Given the description of an element on the screen output the (x, y) to click on. 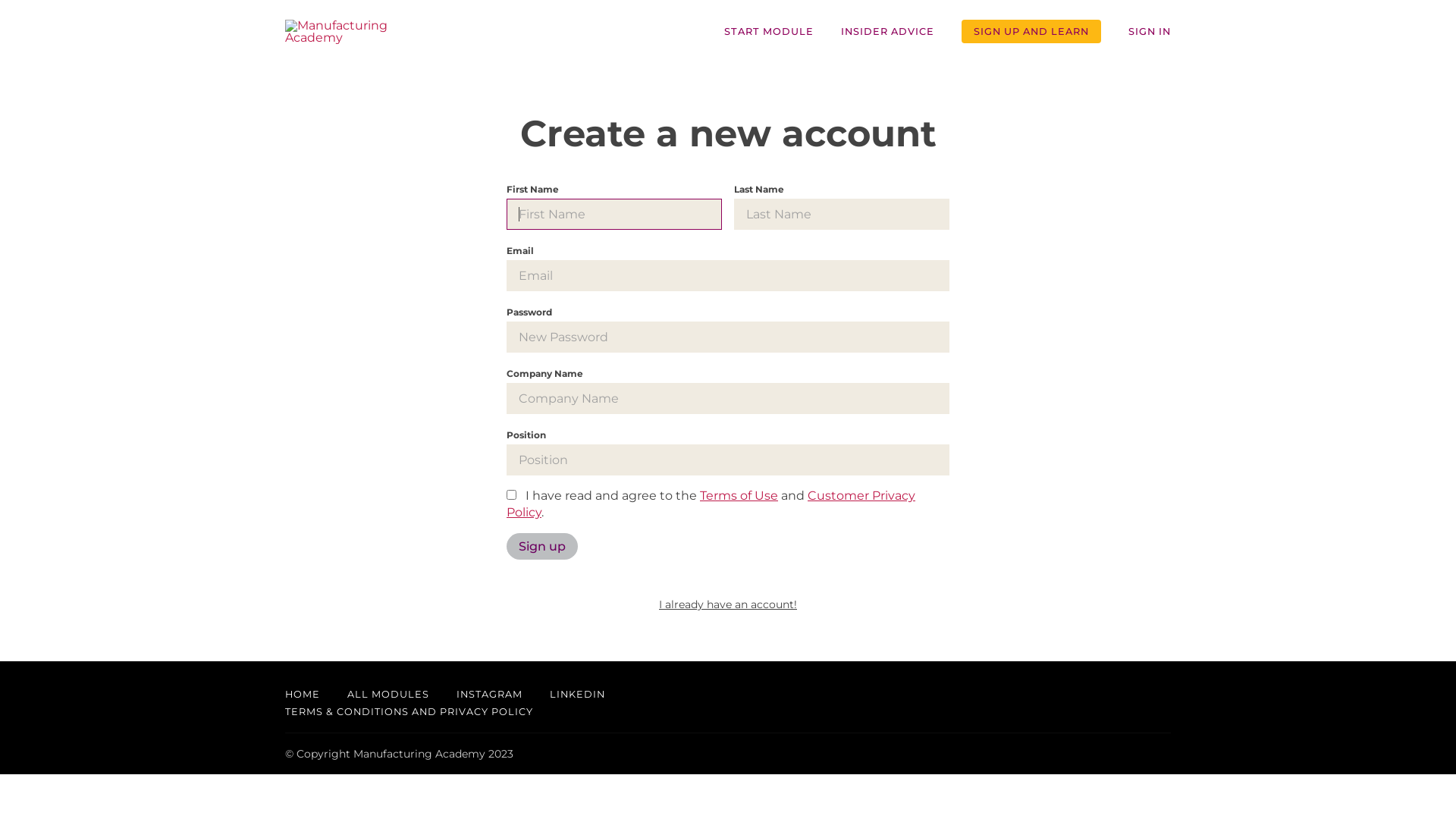
Terms of Use Element type: text (738, 495)
Customer Privacy Policy Element type: text (710, 503)
SIGN UP AND LEARN Element type: text (1031, 31)
I already have an account! Element type: text (727, 604)
START MODULE Element type: text (768, 31)
HOME Element type: text (302, 694)
Sign up Element type: text (541, 546)
INSTAGRAM Element type: text (489, 694)
TERMS & CONDITIONS AND PRIVACY POLICY Element type: text (409, 711)
INSIDER ADVICE Element type: text (887, 31)
LINKEDIN Element type: text (577, 694)
SIGN IN Element type: text (1149, 31)
Manufacturing Academy Element type: hover (357, 31)
ALL MODULES Element type: text (388, 694)
